Given the description of an element on the screen output the (x, y) to click on. 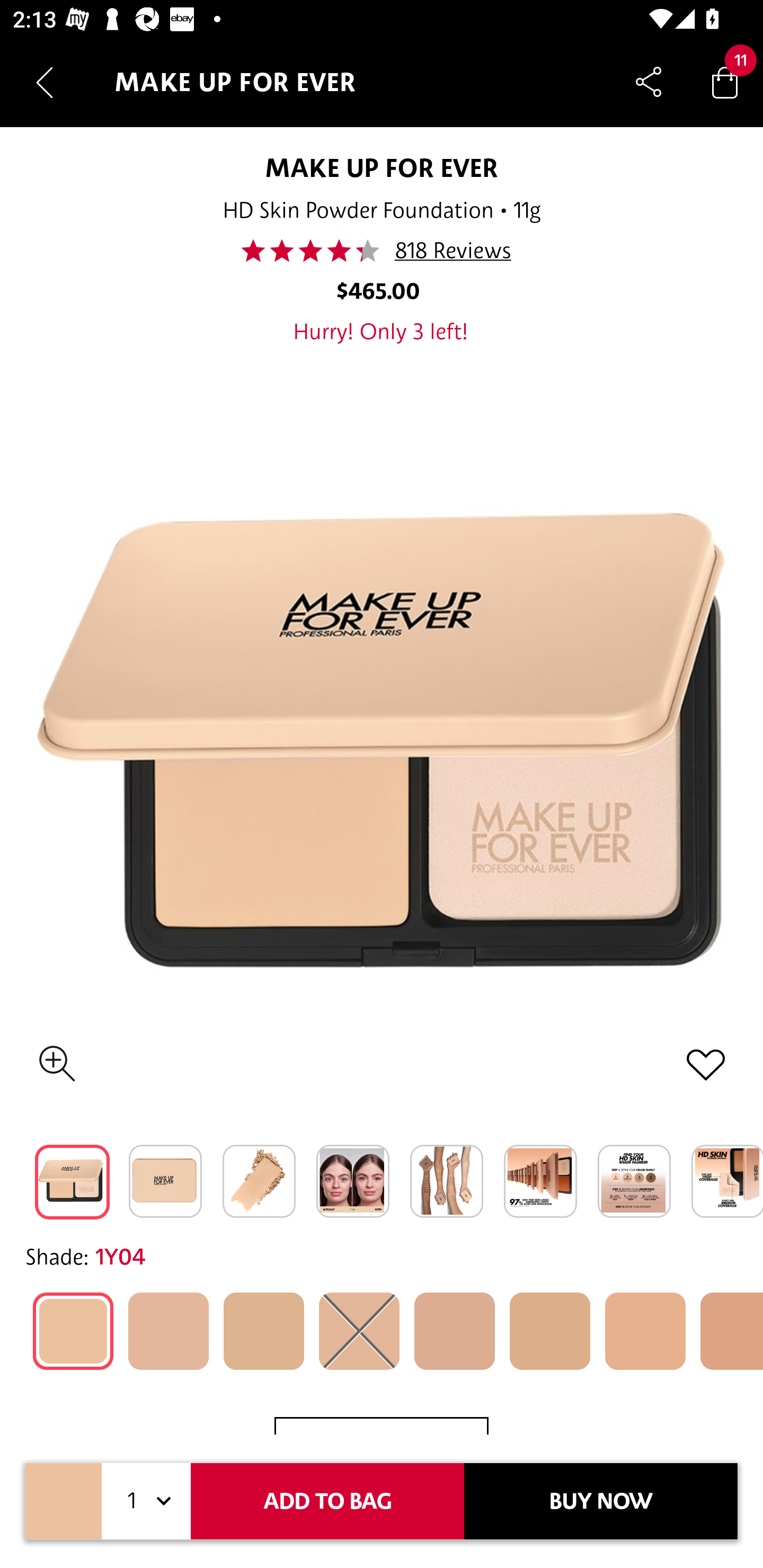
Navigate up (44, 82)
Share (648, 81)
Bag (724, 81)
MAKE UP FOR EVER (381, 167)
43.0 818 Reviews (381, 250)
1 (145, 1500)
ADD TO BAG (326, 1500)
BUY NOW (600, 1500)
